Given the description of an element on the screen output the (x, y) to click on. 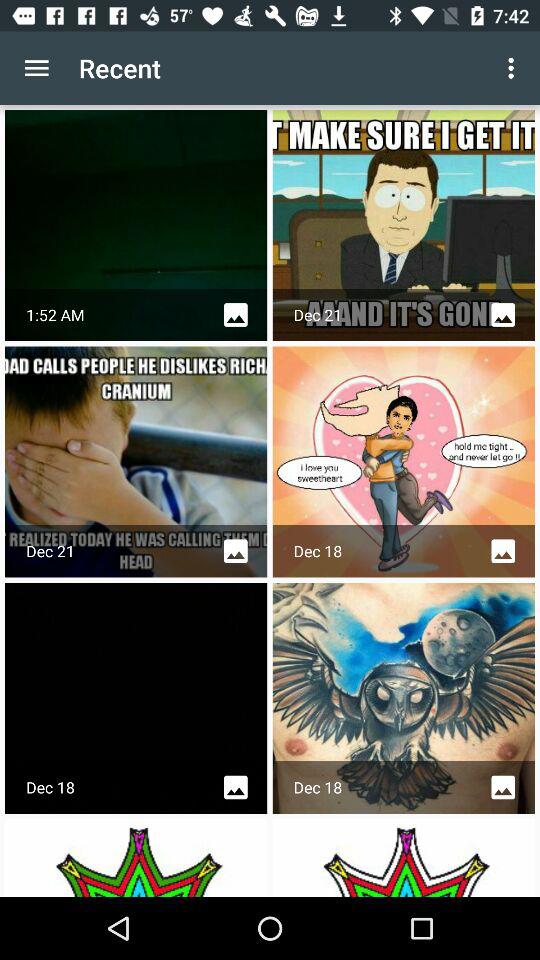
tap icon next to recent item (36, 68)
